Given the description of an element on the screen output the (x, y) to click on. 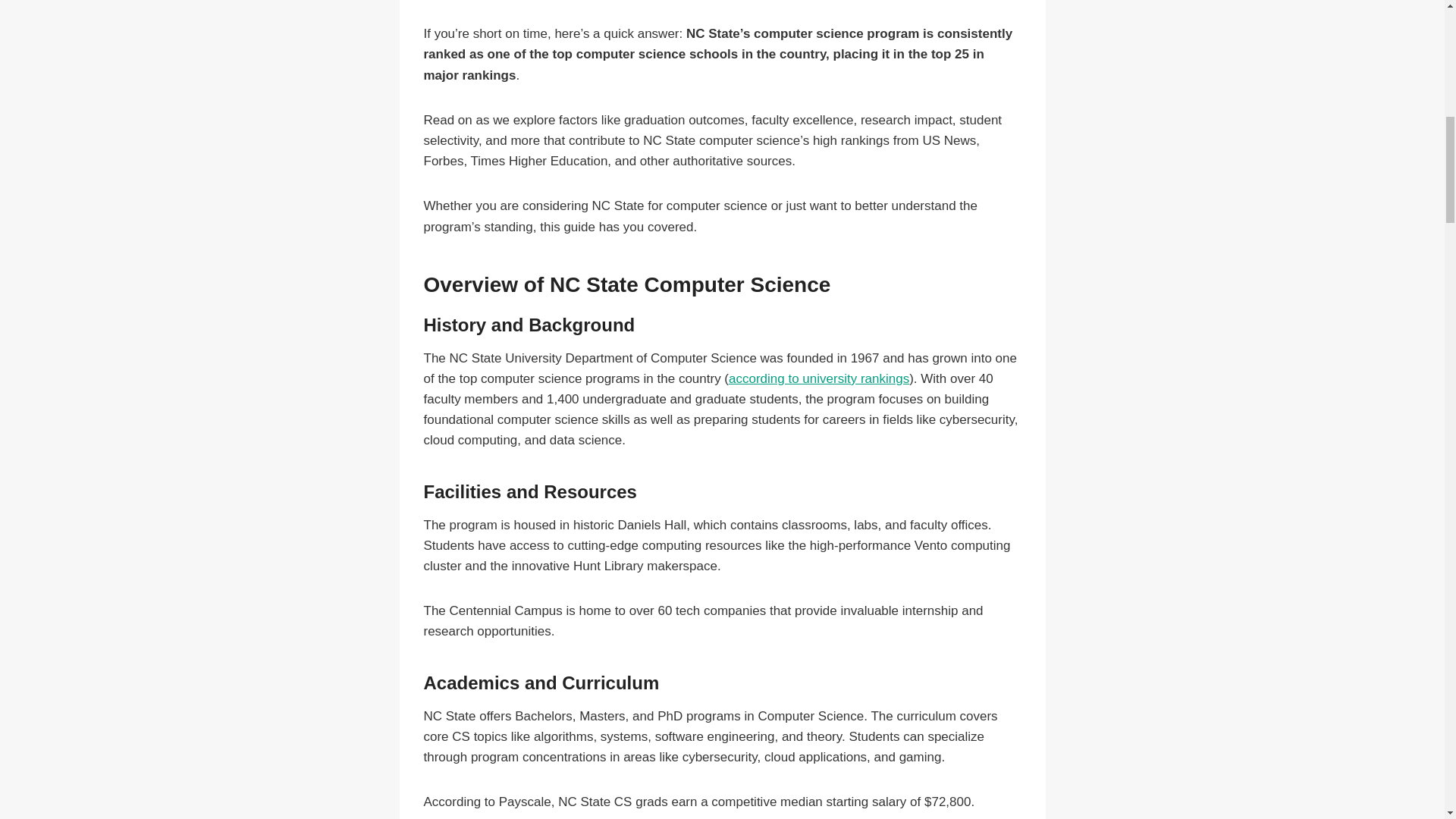
according to university rankings (818, 378)
